Given the description of an element on the screen output the (x, y) to click on. 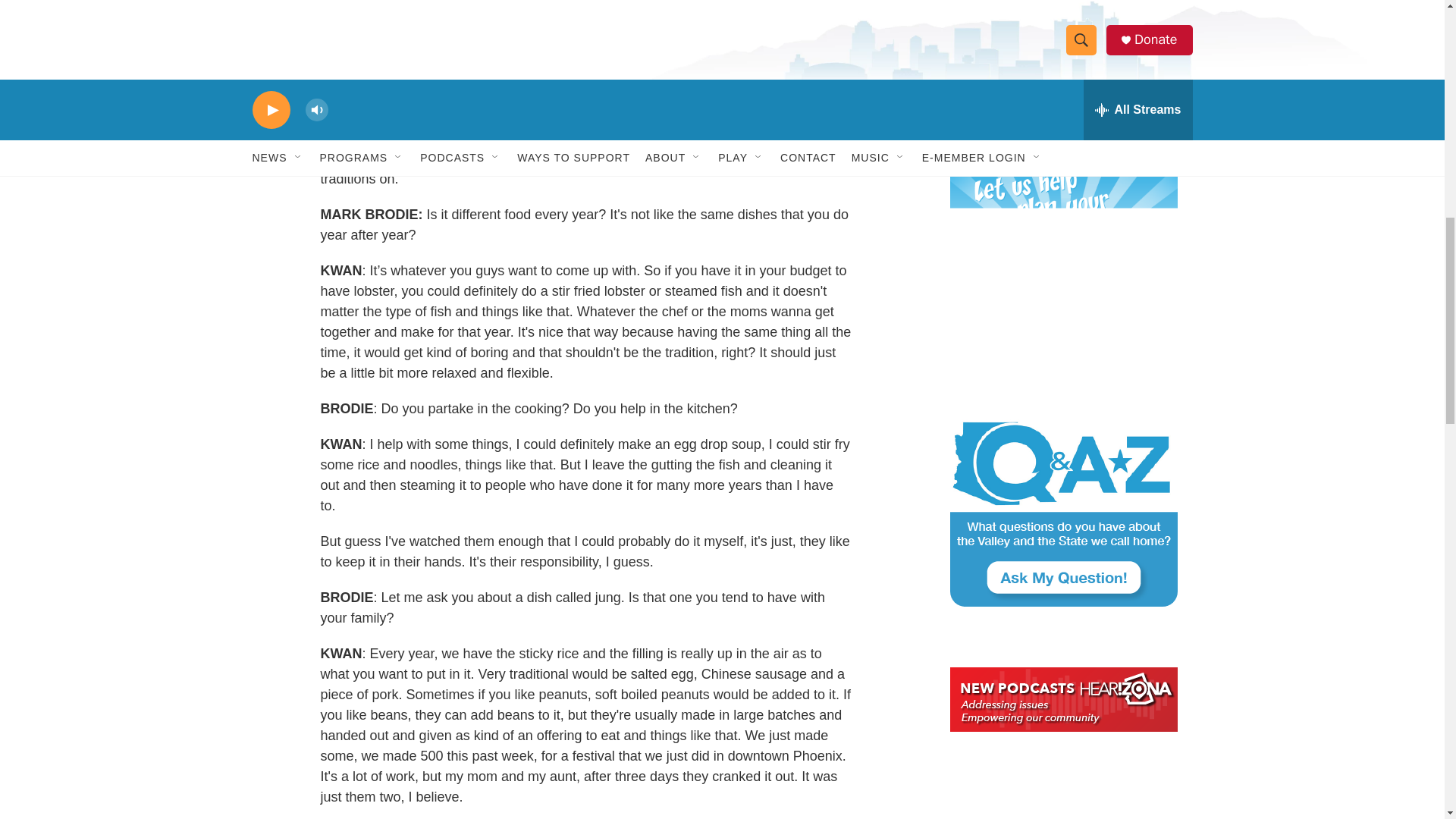
Subscribe to our newsletters (1062, 64)
